Given the description of an element on the screen output the (x, y) to click on. 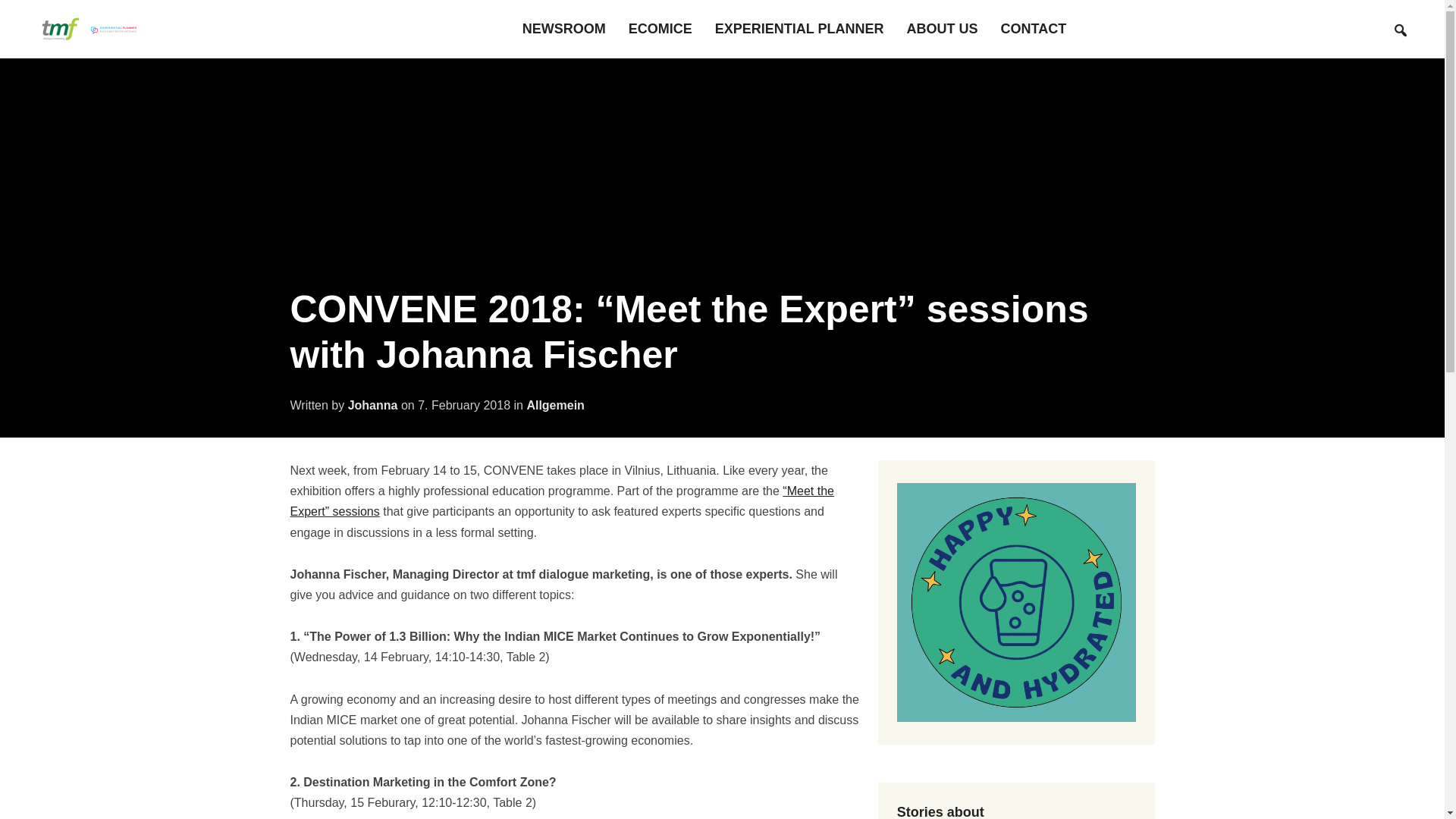
Posts by Johanna (372, 404)
Allgemein (554, 404)
CONTACT (1034, 29)
Johanna (372, 404)
EXPERIENTIAL PLANNER (798, 29)
NEWSROOM (563, 29)
ECOMICE (660, 29)
Search (1400, 30)
ABOUT US (942, 29)
